Given the description of an element on the screen output the (x, y) to click on. 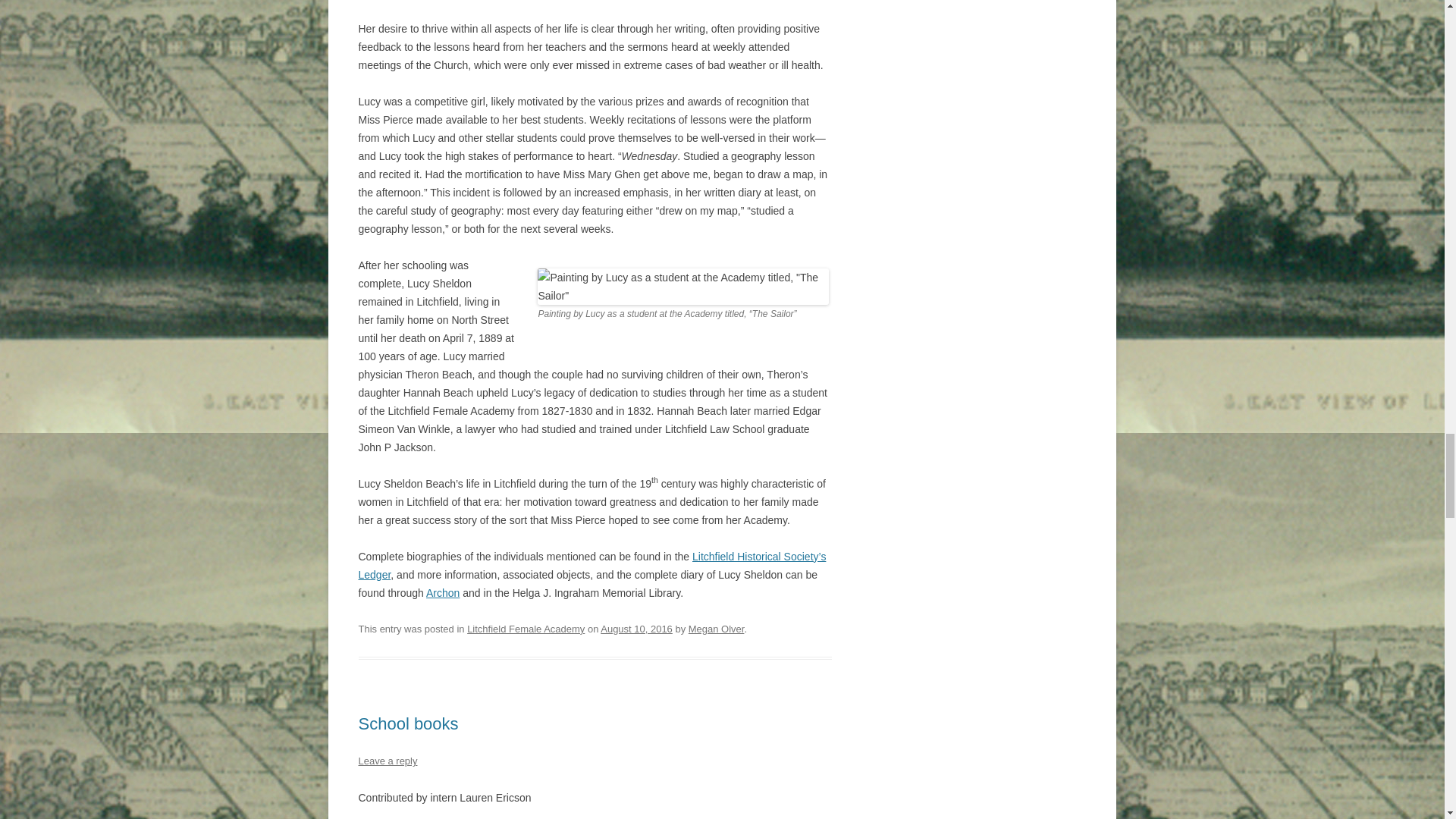
9:46 am (635, 628)
Archon (443, 592)
View all posts by Megan Olver (716, 628)
